Given the description of an element on the screen output the (x, y) to click on. 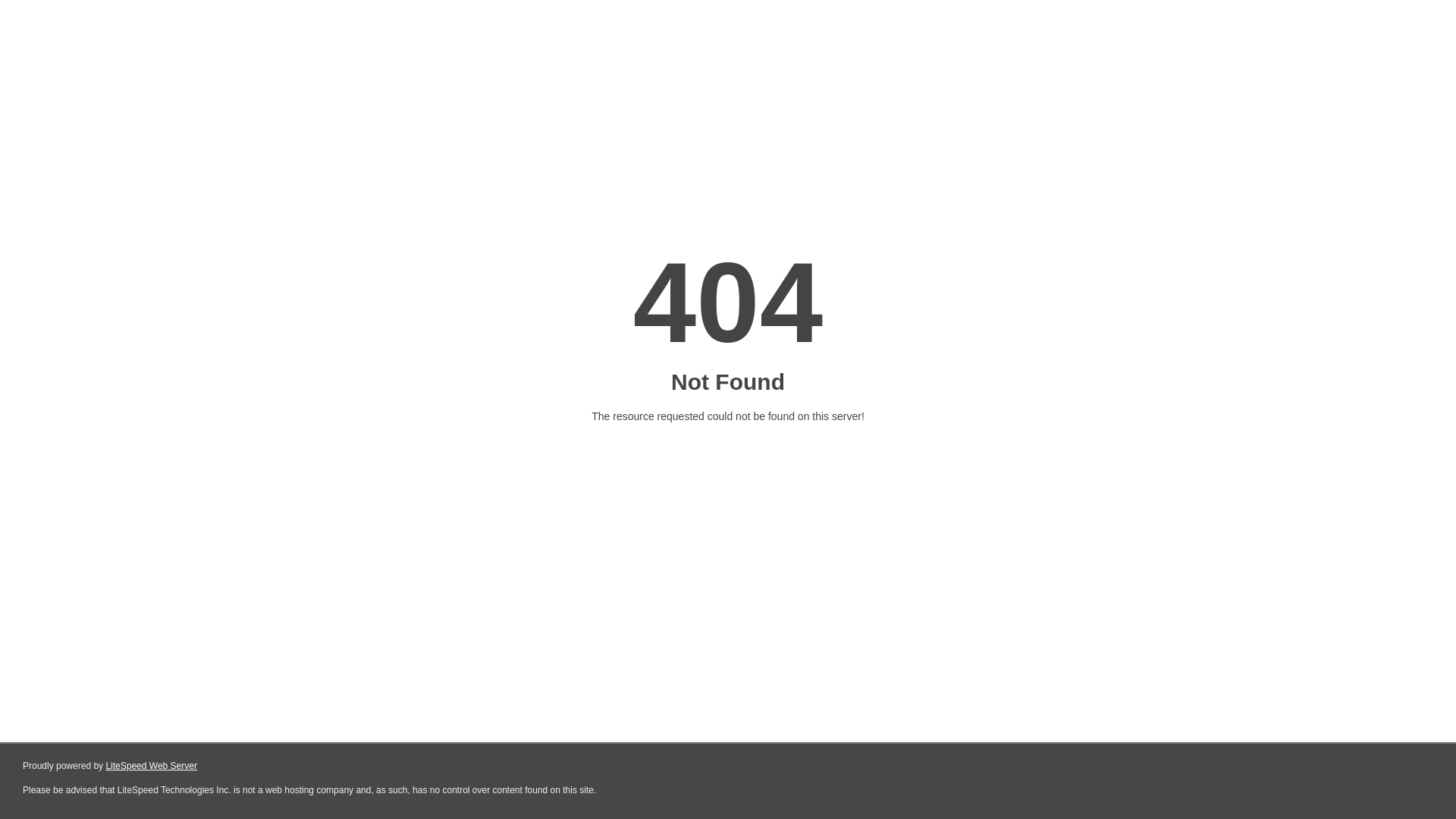
LiteSpeed Web Server Element type: text (151, 765)
